Given the description of an element on the screen output the (x, y) to click on. 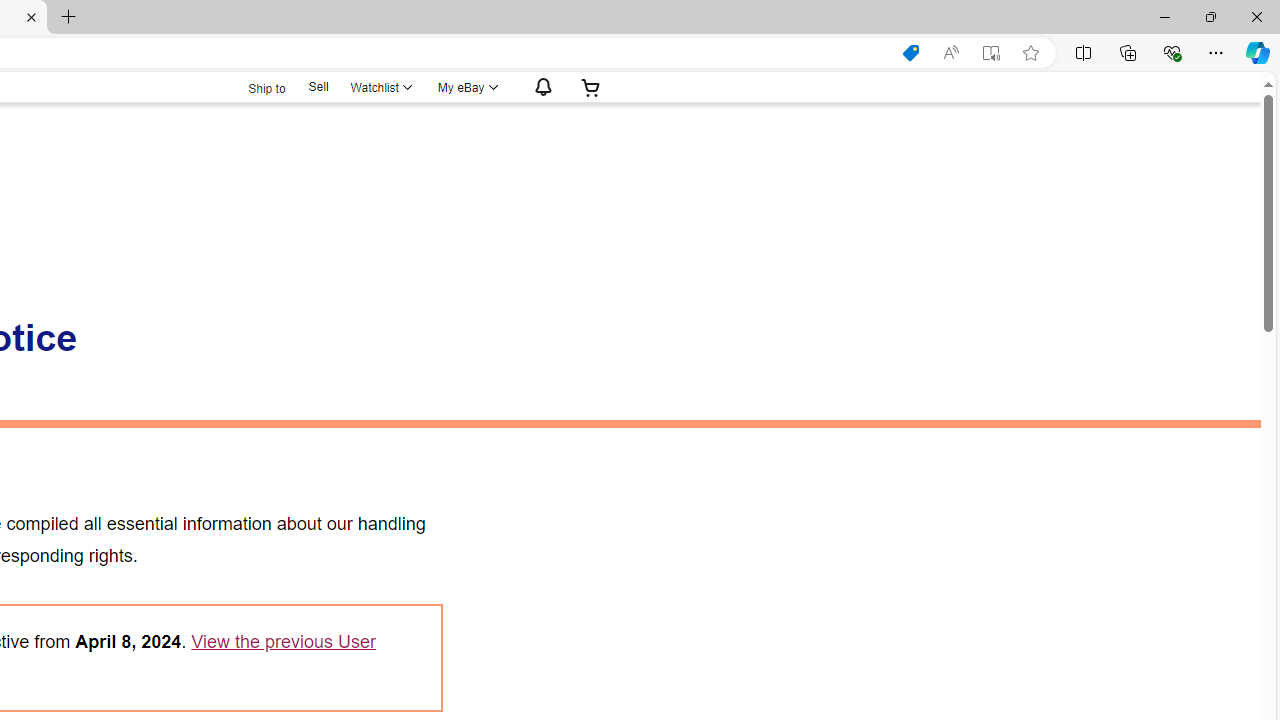
Sell (317, 86)
Sell (318, 87)
Expand Cart (591, 87)
My eBayExpand My eBay (466, 87)
